Given the description of an element on the screen output the (x, y) to click on. 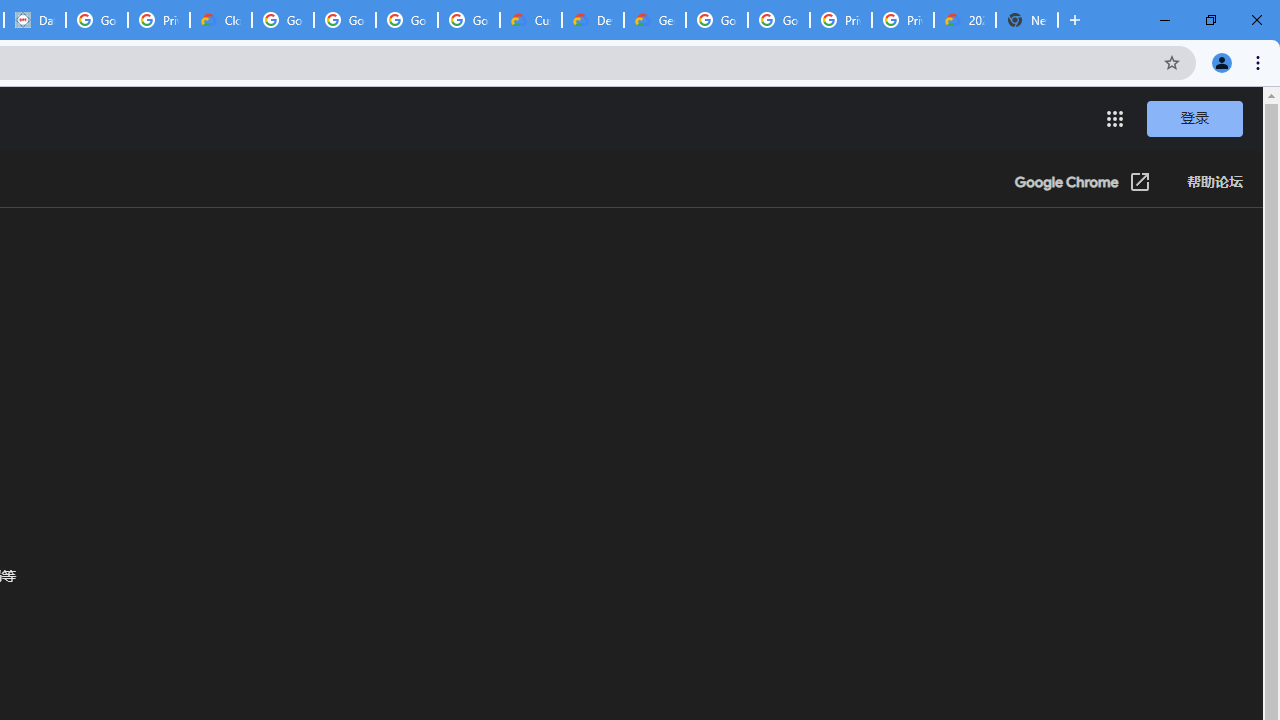
Google Workspace - Specific Terms (406, 20)
New Tab (1026, 20)
